Given the description of an element on the screen output the (x, y) to click on. 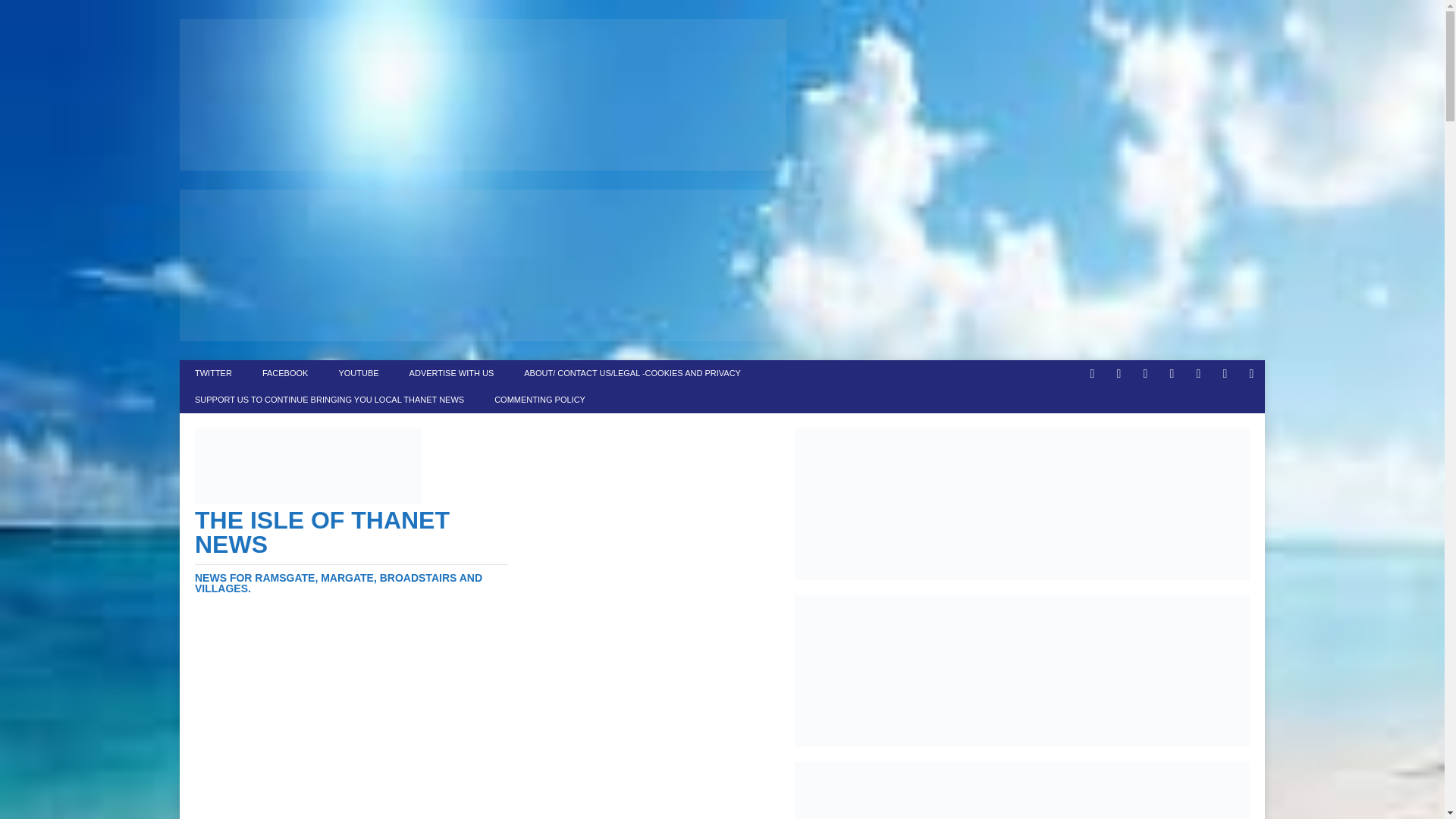
SUPPORT US TO CONTINUE BRINGING YOU LOCAL THANET NEWS (329, 399)
YOUTUBE (358, 373)
COMMENTING POLICY (539, 399)
FACEBOOK (285, 373)
TWITTER (213, 373)
The Isle Of Thanet News (351, 550)
ADVERTISE WITH US (451, 373)
